Given the description of an element on the screen output the (x, y) to click on. 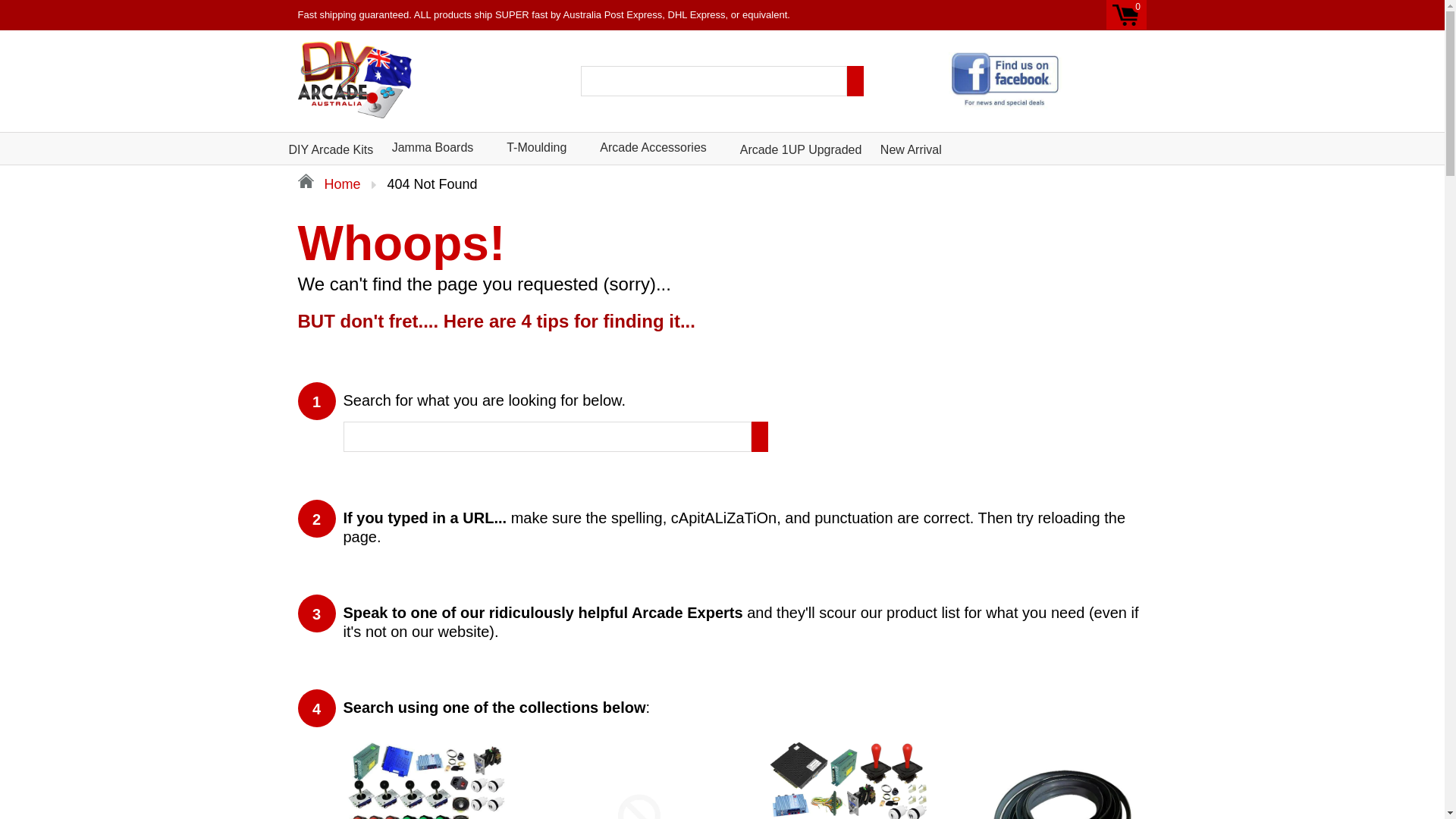
Arcade 1UP Upgraded Element type: text (800, 146)
DIY Arcade Kits Element type: text (331, 146)
Arcade Accessories Element type: text (653, 143)
New Arrival Element type: text (911, 146)
T-Moulding Element type: text (536, 143)
 Home Element type: text (328, 184)
0 Element type: text (1126, 15)
Jamma Boards Element type: text (432, 143)
